Given the description of an element on the screen output the (x, y) to click on. 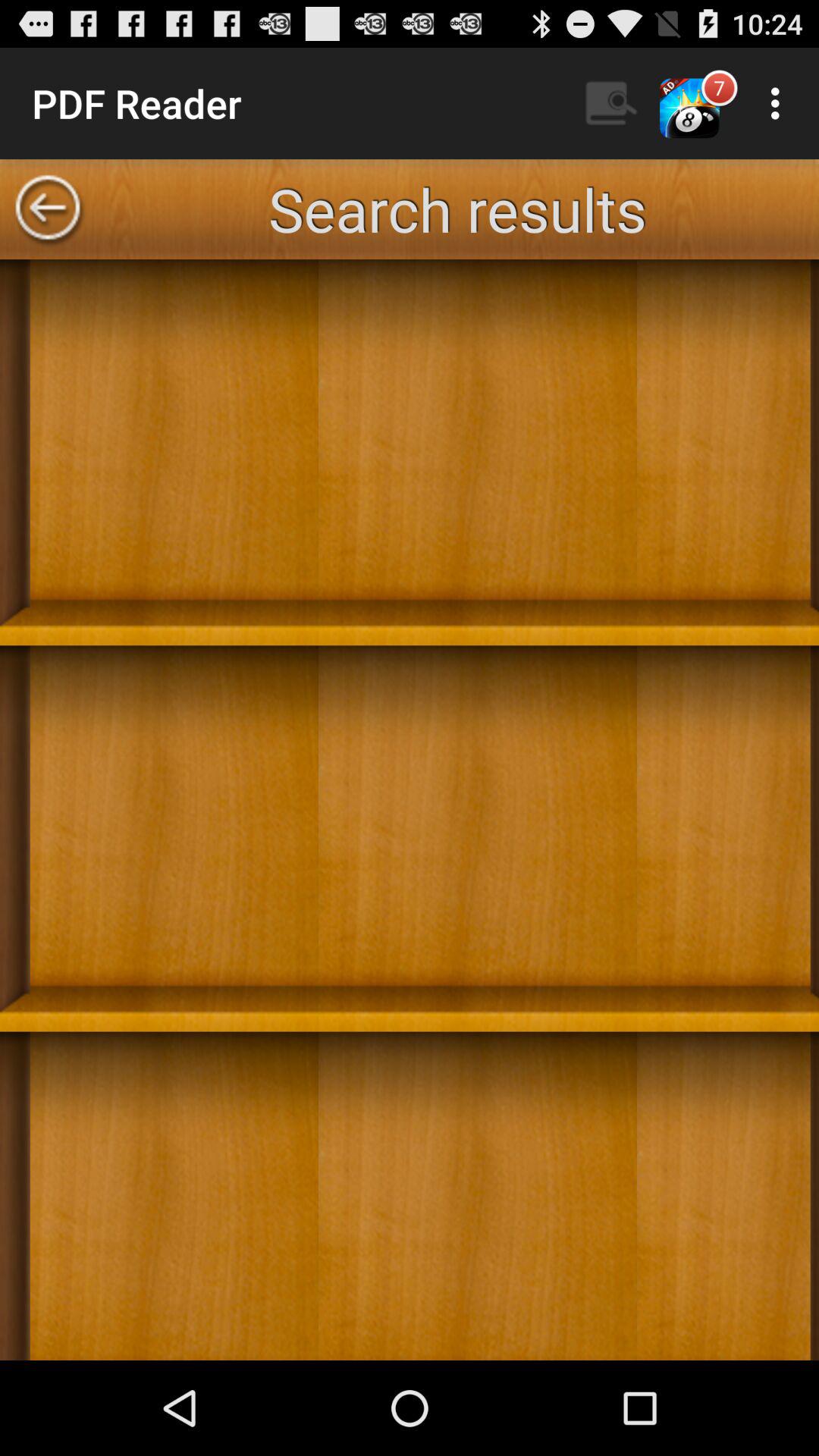
go to previous (47, 209)
